Given the description of an element on the screen output the (x, y) to click on. 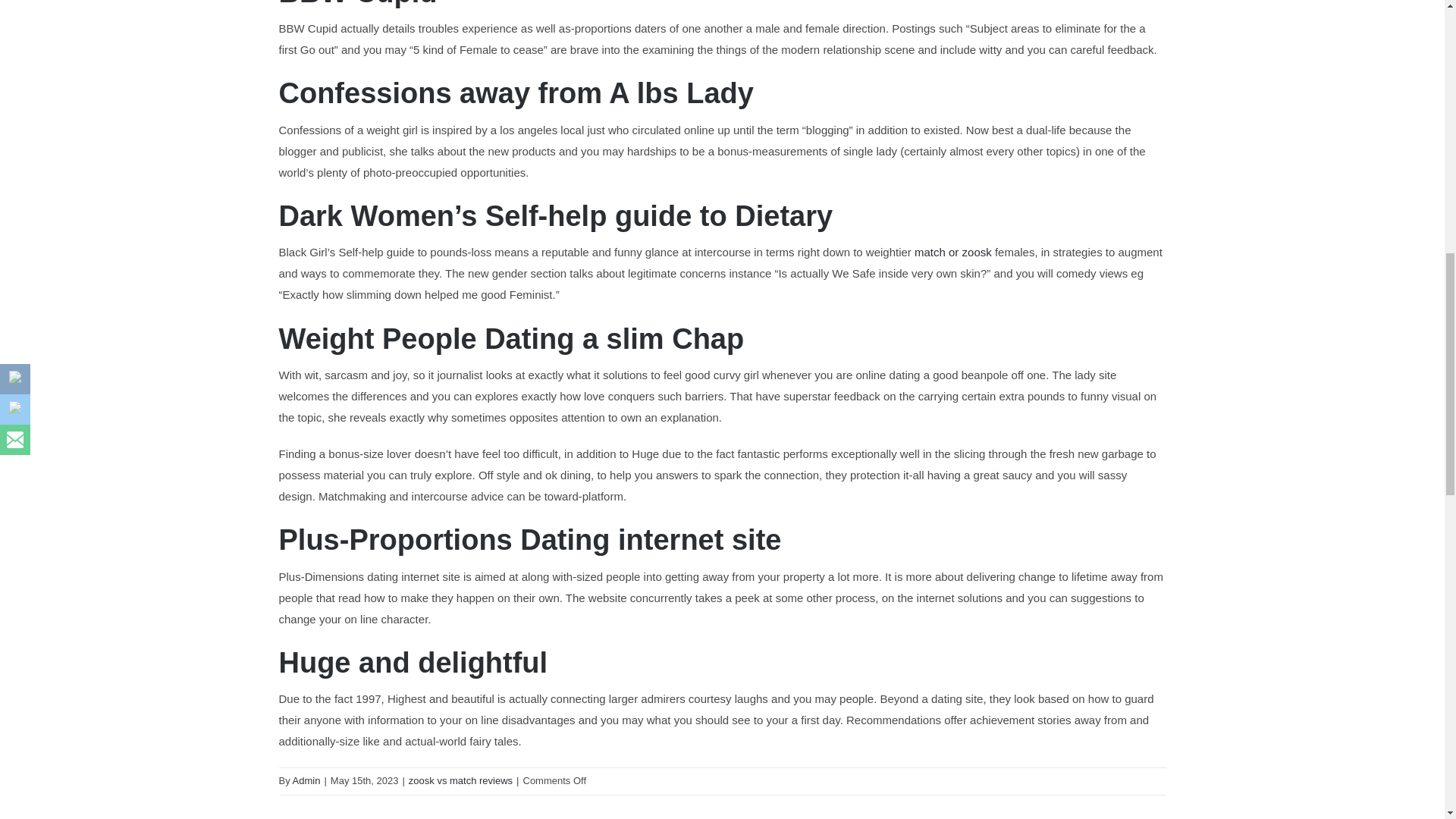
Admin (306, 780)
Posts by Admin (306, 780)
match or zoosk (952, 251)
zoosk vs match reviews (460, 780)
